Given the description of an element on the screen output the (x, y) to click on. 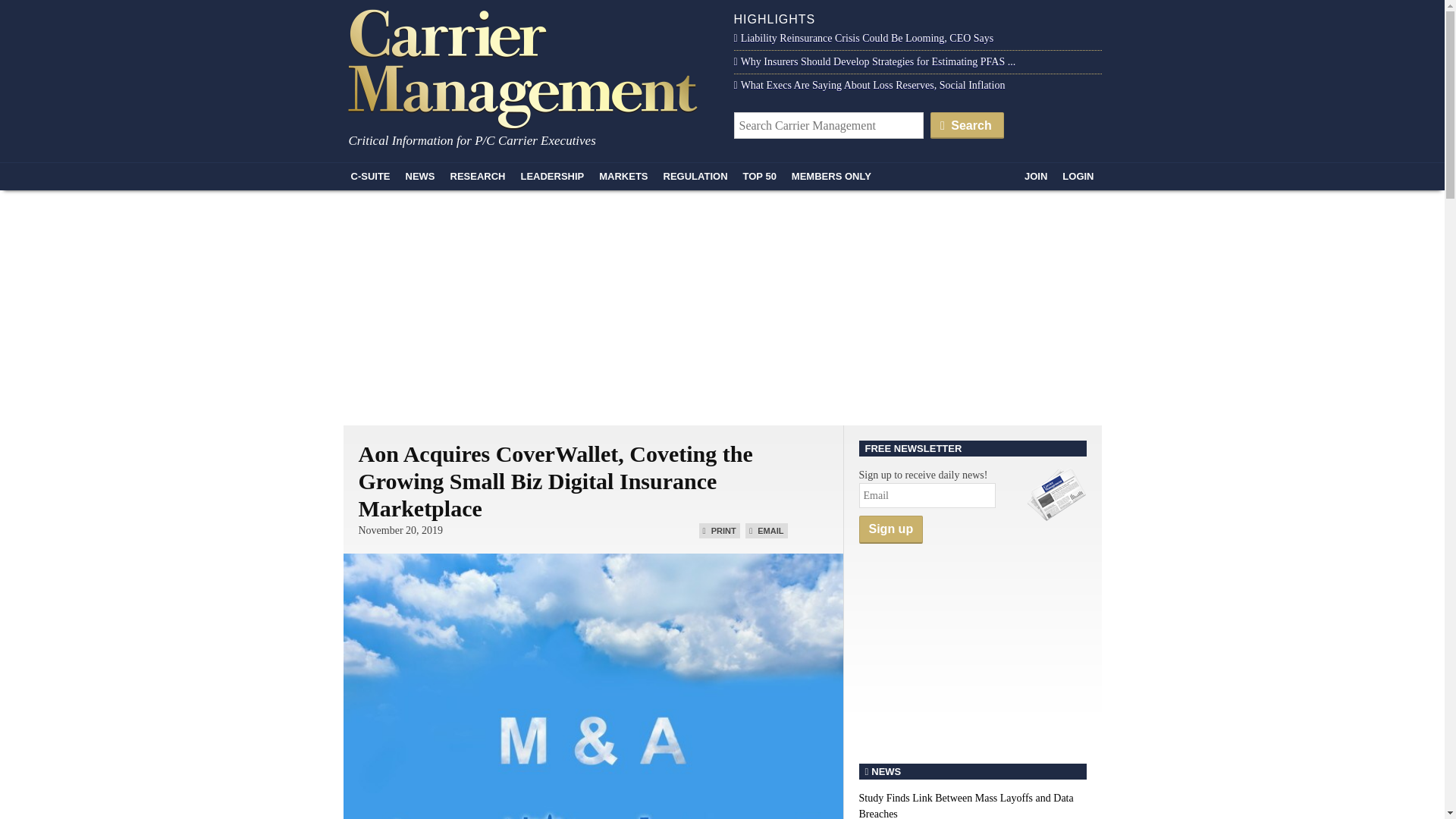
LEADERSHIP (551, 176)
RESEARCH (477, 176)
NEWS (419, 176)
Carrier Management (527, 67)
TOP 50 (759, 176)
What Execs Are Saying About Loss Reserves, Social Inflation (869, 84)
Liability Reinsurance Crisis Could Be Looming, CEO Says (863, 38)
LOGIN (1077, 176)
JOIN (1035, 176)
C-SUITE (369, 176)
REGULATION (695, 176)
MARKETS (623, 176)
MEMBERS ONLY (831, 176)
Search (967, 125)
